Given the description of an element on the screen output the (x, y) to click on. 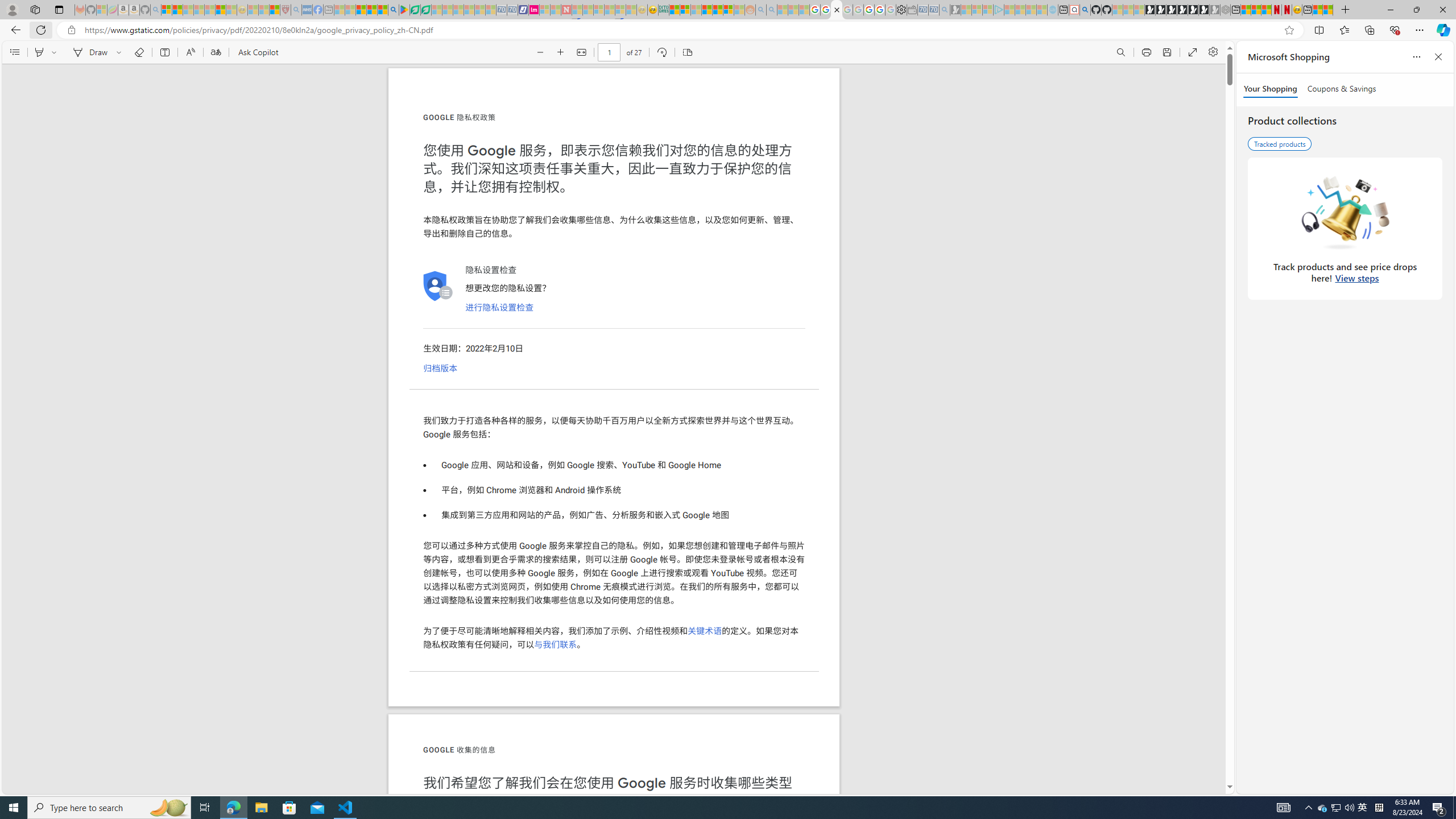
Rotate (Ctrl+]) (661, 52)
Jobs - lastminute.com Investor Portal (534, 9)
google - Search (392, 9)
Bluey: Let's Play! - Apps on Google Play (404, 9)
Add text (164, 52)
Microsoft account | Privacy - Sleeping (987, 9)
Home | Sky Blue Bikes - Sky Blue Bikes - Sleeping (1052, 9)
Page view (687, 52)
